Given the description of an element on the screen output the (x, y) to click on. 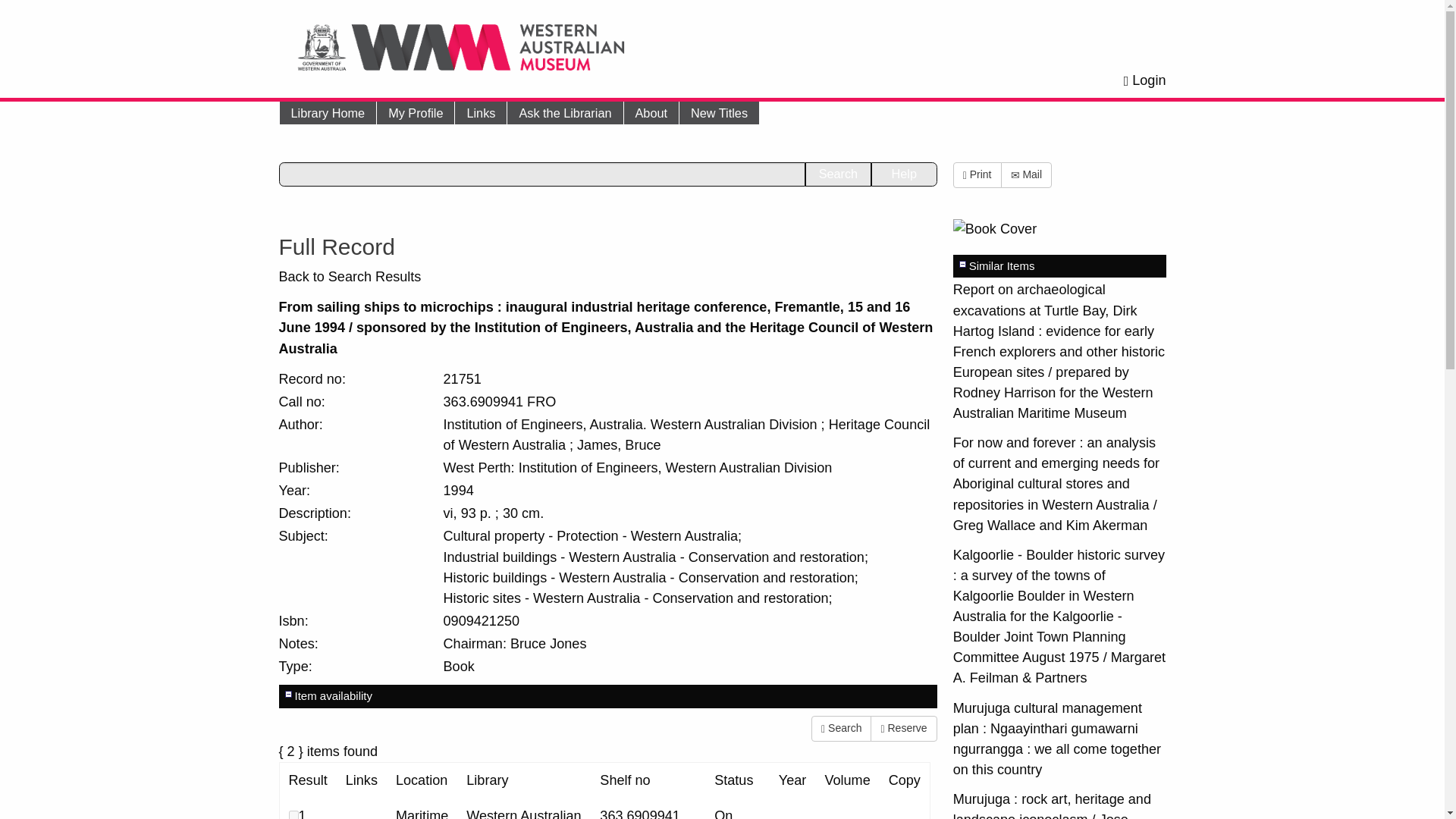
Mail (1026, 175)
Login (1145, 79)
Type search term here (542, 174)
About (650, 112)
James, Bruce (618, 444)
Mail Results (1026, 175)
Search (840, 728)
